Given the description of an element on the screen output the (x, y) to click on. 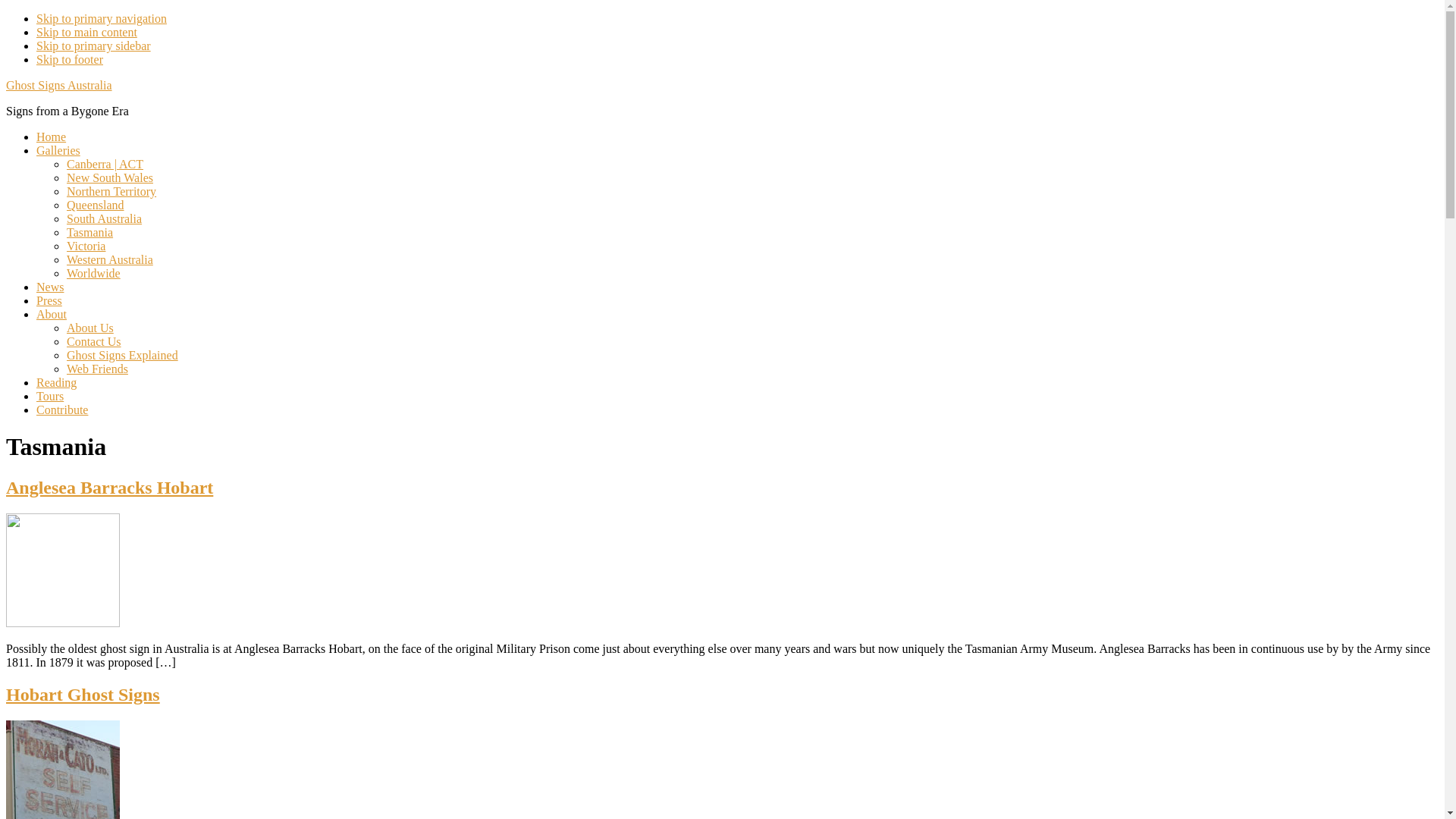
Victoria Element type: text (85, 245)
South Australia Element type: text (103, 218)
News Element type: text (49, 286)
Contribute Element type: text (61, 409)
Queensland Element type: text (95, 204)
About Element type: text (51, 313)
Canberra | ACT Element type: text (104, 163)
Northern Territory Element type: text (111, 191)
Press Element type: text (49, 300)
New South Wales Element type: text (109, 177)
About Us Element type: text (89, 327)
Web Friends Element type: text (97, 368)
Skip to footer Element type: text (69, 59)
Skip to primary sidebar Element type: text (93, 45)
Western Australia Element type: text (109, 259)
Anglesea Barracks Hobart Element type: text (109, 487)
Ghost Signs Australia Element type: text (59, 84)
Hobart Ghost Signs Element type: text (83, 694)
Reading Element type: text (56, 382)
Home Element type: text (50, 136)
Worldwide Element type: text (93, 272)
Tours Element type: text (49, 395)
Ghost Signs Explained Element type: text (122, 354)
Skip to main content Element type: text (86, 31)
Skip to primary navigation Element type: text (101, 18)
Tasmania Element type: text (89, 231)
Contact Us Element type: text (93, 341)
Galleries Element type: text (58, 150)
